Given the description of an element on the screen output the (x, y) to click on. 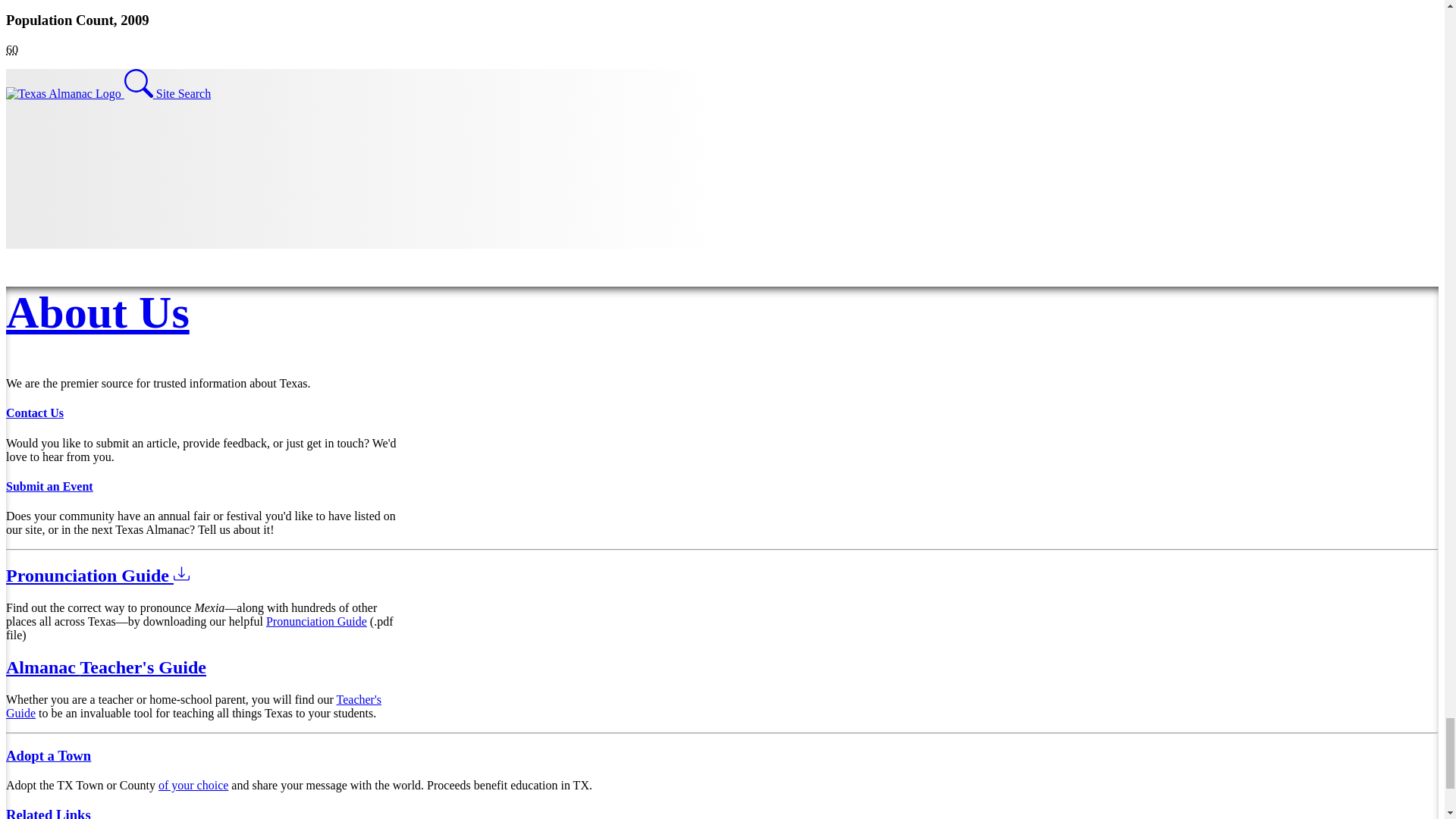
Pronunciation Guide (316, 621)
Contact Us (34, 412)
Teacher's Guide (193, 705)
About Us (97, 312)
Submit an Event (49, 486)
Almanac Teacher's Guide (105, 667)
2009, Local Officials (11, 49)
Adopt a Town (47, 755)
Site Search (167, 92)
Pronunciation Guide (97, 575)
